Given the description of an element on the screen output the (x, y) to click on. 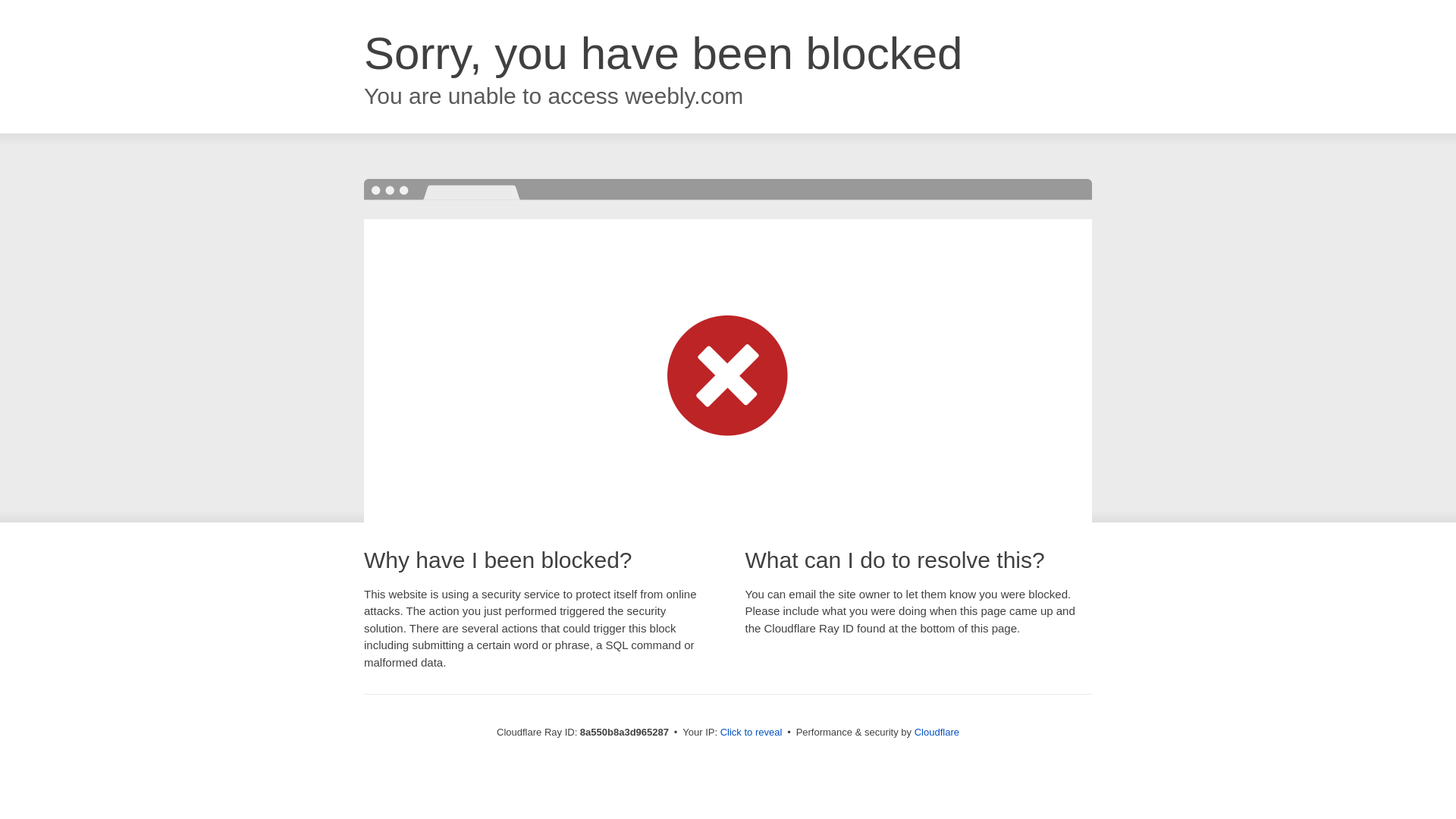
Click to reveal (751, 732)
Cloudflare (936, 731)
